Given the description of an element on the screen output the (x, y) to click on. 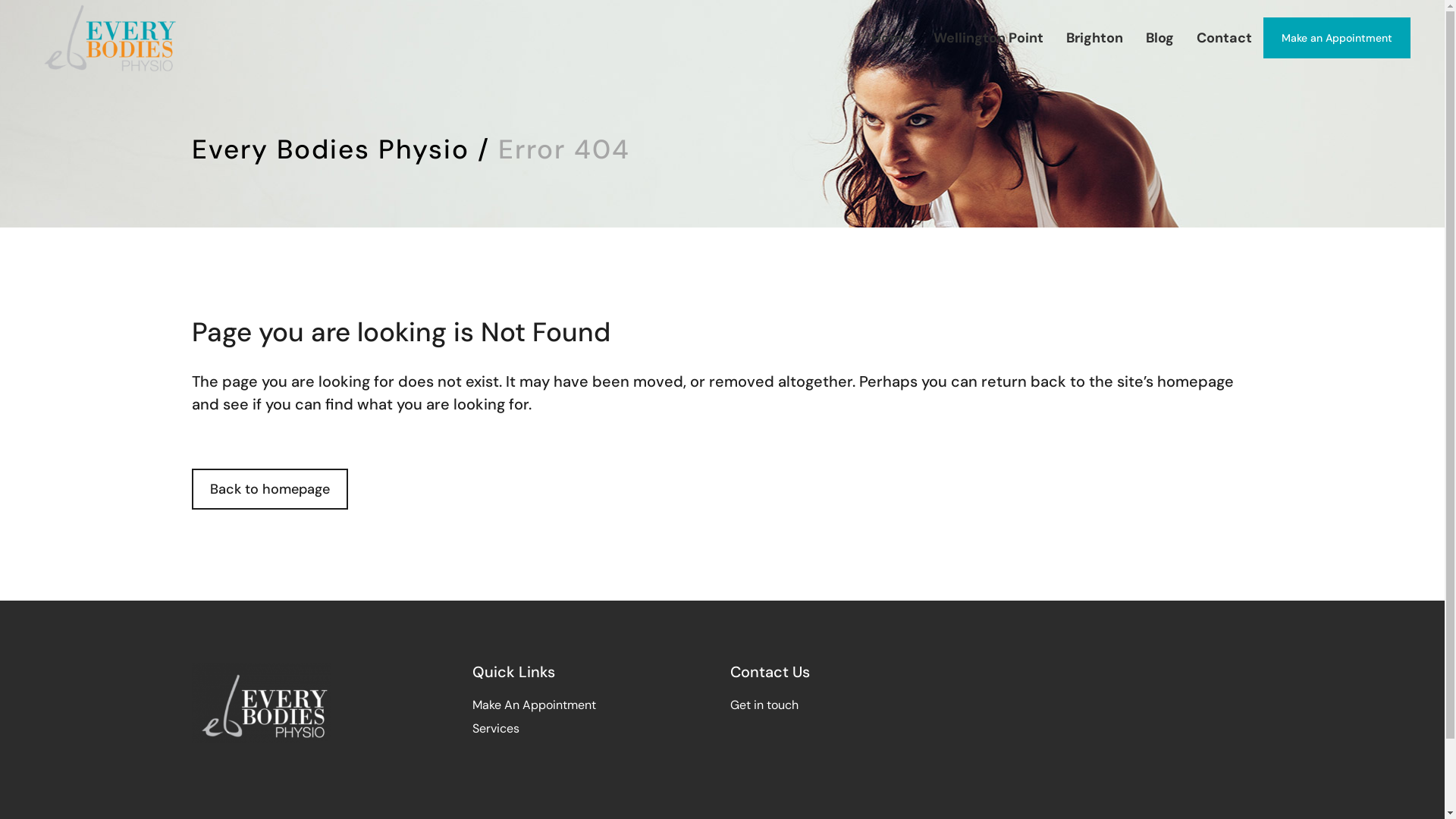
Every Bodies Physio Element type: text (329, 148)
Brighton Element type: text (1094, 37)
Make an Appointment Element type: text (1336, 37)
Blog Element type: text (1159, 37)
Get in touch Element type: text (763, 704)
Wellington Point Element type: text (988, 37)
Home Element type: text (890, 37)
Make An Appointment Element type: text (533, 704)
Contact Element type: text (1224, 37)
Services Element type: text (494, 728)
Back to homepage Element type: text (269, 488)
